Given the description of an element on the screen output the (x, y) to click on. 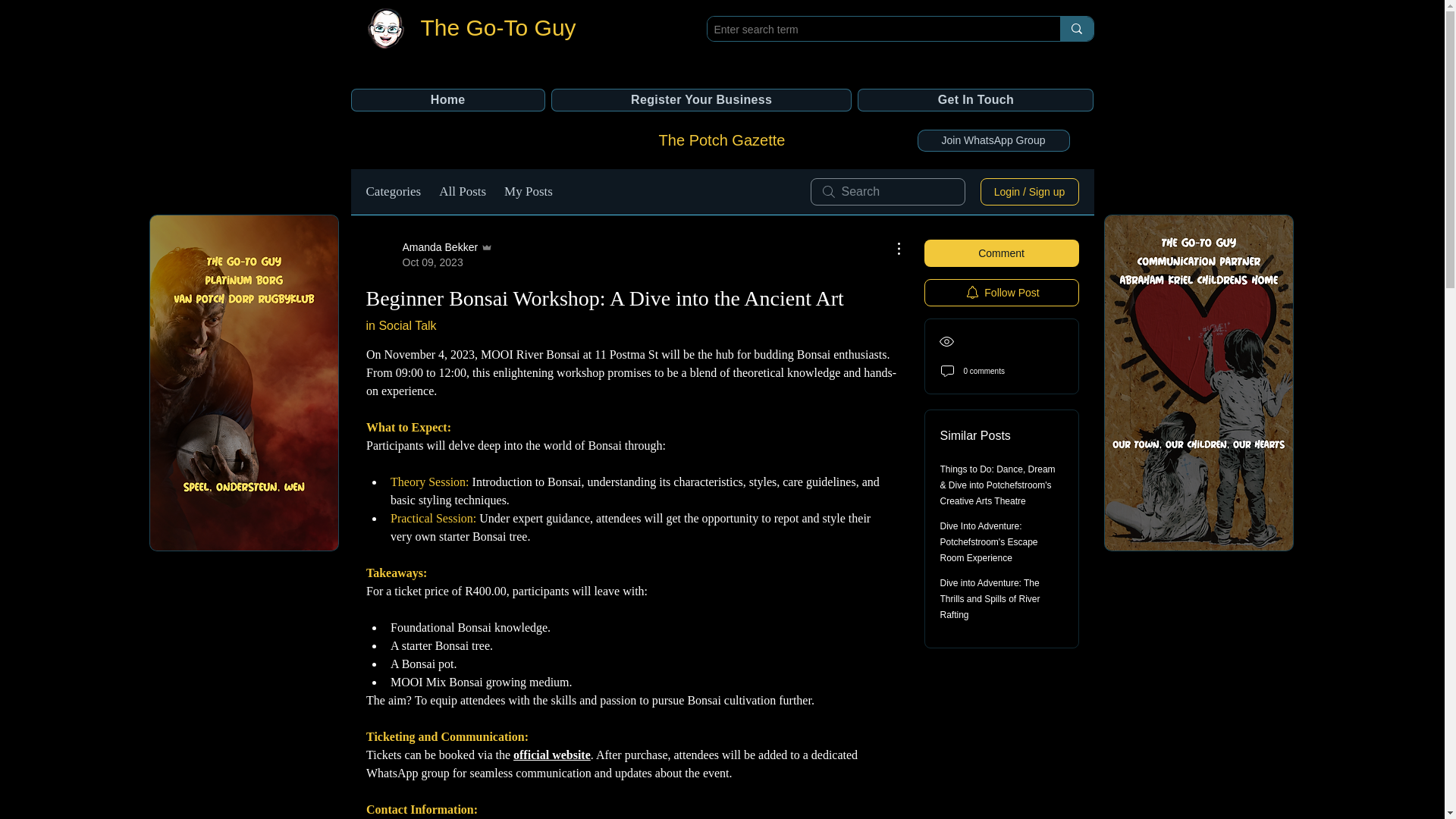
Register Your Business (701, 99)
All Posts (462, 191)
in Social Talk (400, 325)
Comment (429, 254)
Follow Post (1000, 252)
official website (1000, 292)
Categories (552, 754)
The Go-To Guy (392, 191)
Get In Touch (497, 27)
